Given the description of an element on the screen output the (x, y) to click on. 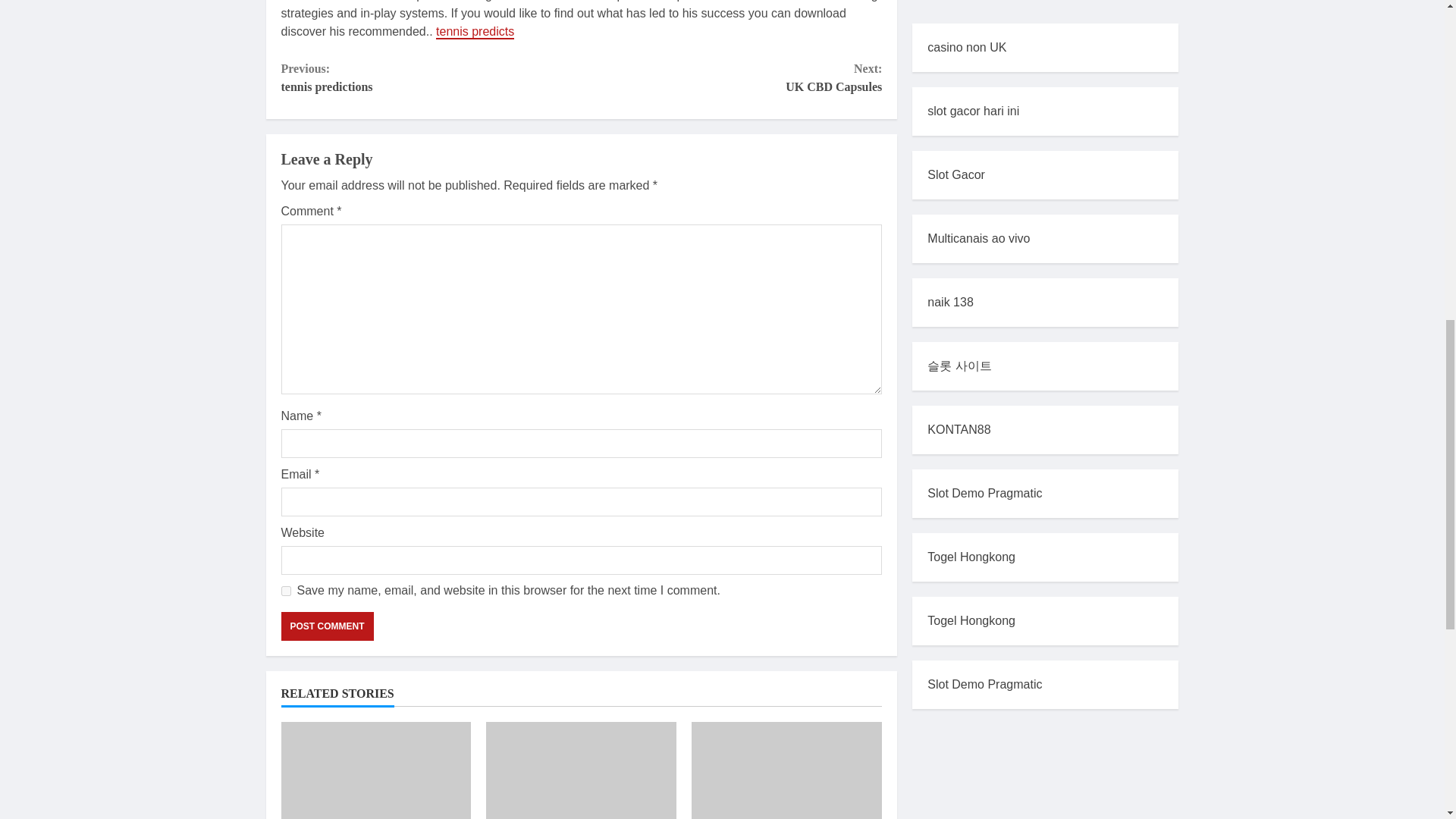
Post Comment (326, 625)
Slot Demo Pragmatic (984, 51)
Post Comment (326, 625)
tennis predicts (731, 77)
Understanding ABA Therapy for Kids in Dubai (474, 32)
Maximizing Space: Bathroom Renovations for Small Bathrooms (786, 770)
yes (581, 770)
